Given the description of an element on the screen output the (x, y) to click on. 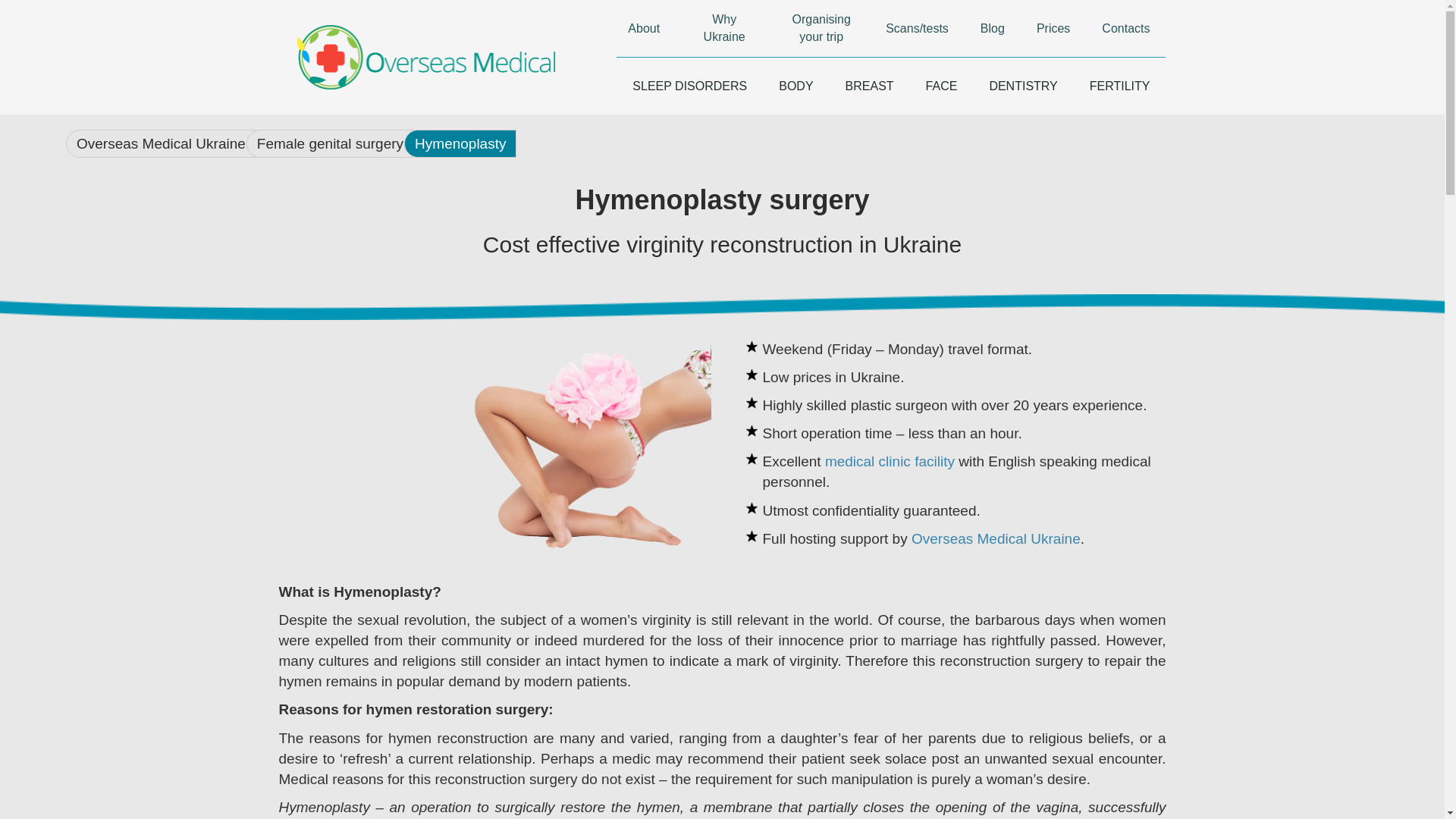
About (643, 28)
BODY (795, 85)
Organising your trip (821, 28)
SLEEP DISORDERS (688, 85)
Why Ukraine (724, 28)
Go to Overseas Medical Ukraine. (165, 143)
Go to Female genital surgery. (334, 143)
Blog (991, 28)
Contacts (1126, 28)
Prices (1053, 28)
